Given the description of an element on the screen output the (x, y) to click on. 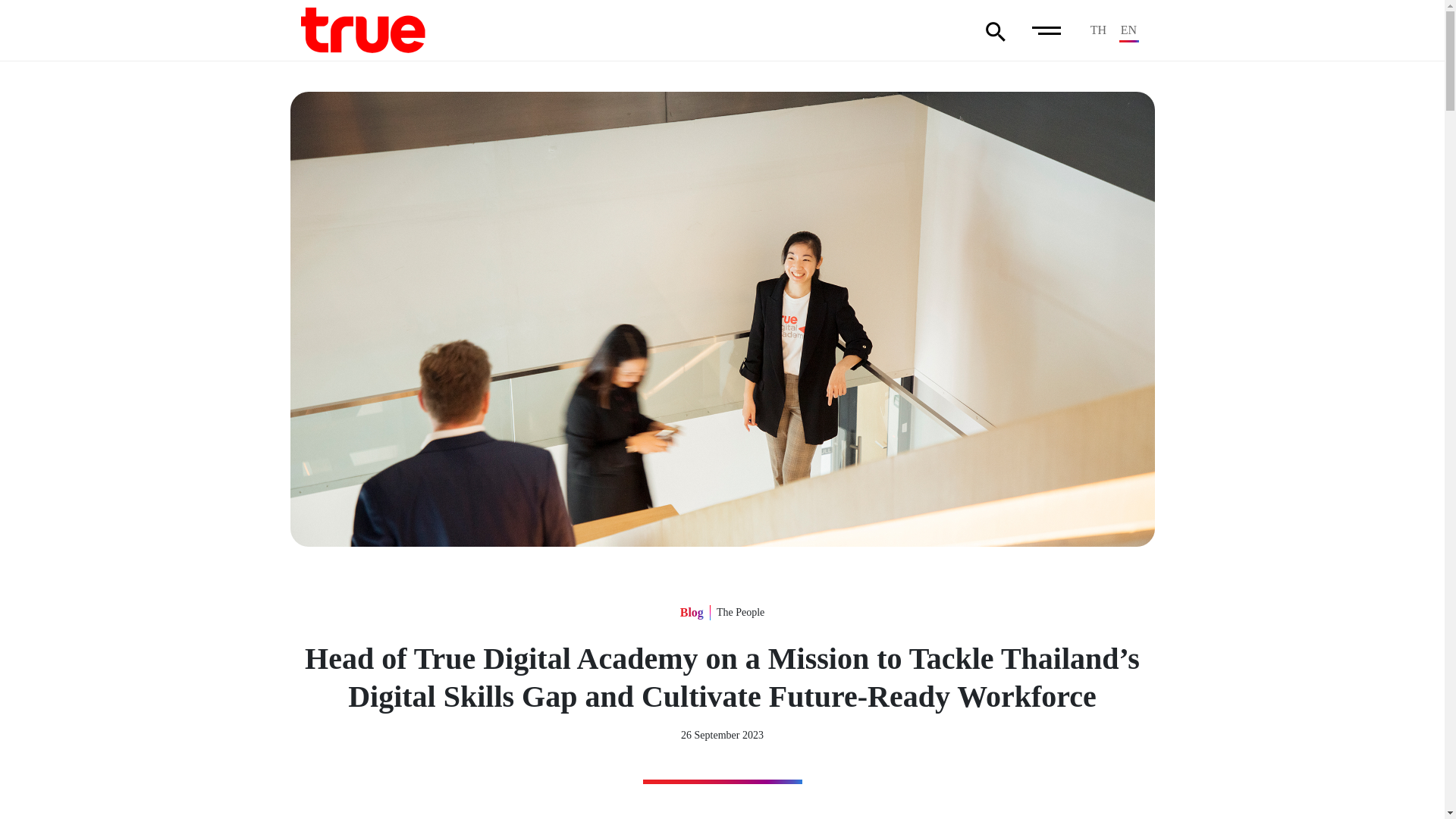
Search (994, 31)
TH (1098, 30)
EN (1127, 30)
The People (740, 612)
trueblog (362, 29)
